Given the description of an element on the screen output the (x, y) to click on. 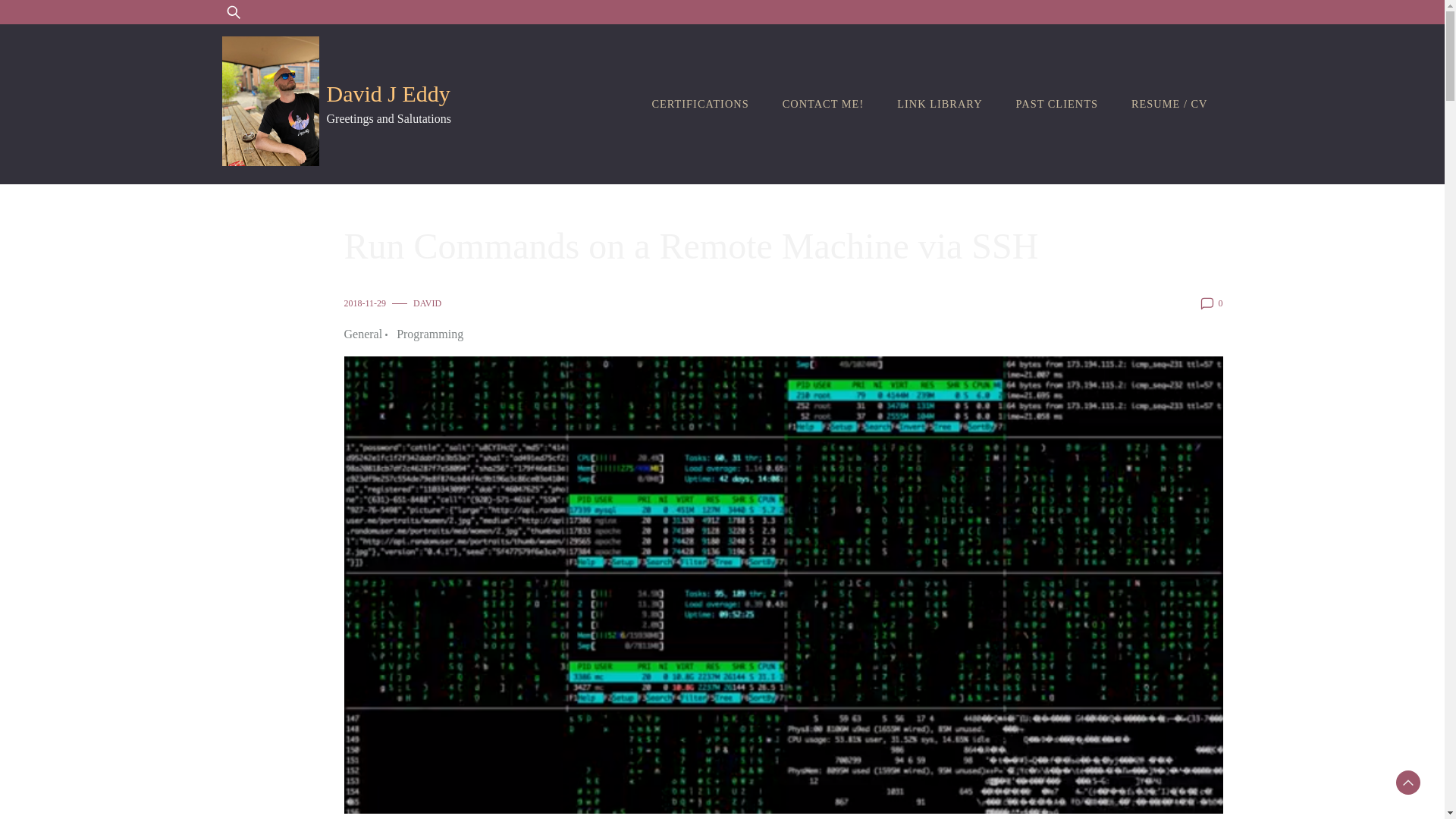
2018-11-29 (365, 303)
Search (56, 21)
David J Eddy (387, 93)
CONTACT ME! (823, 103)
Programming (429, 333)
DAVID (427, 303)
General (367, 333)
CERTIFICATIONS (699, 103)
PAST CLIENTS (1057, 103)
LINK LIBRARY (939, 103)
